Given the description of an element on the screen output the (x, y) to click on. 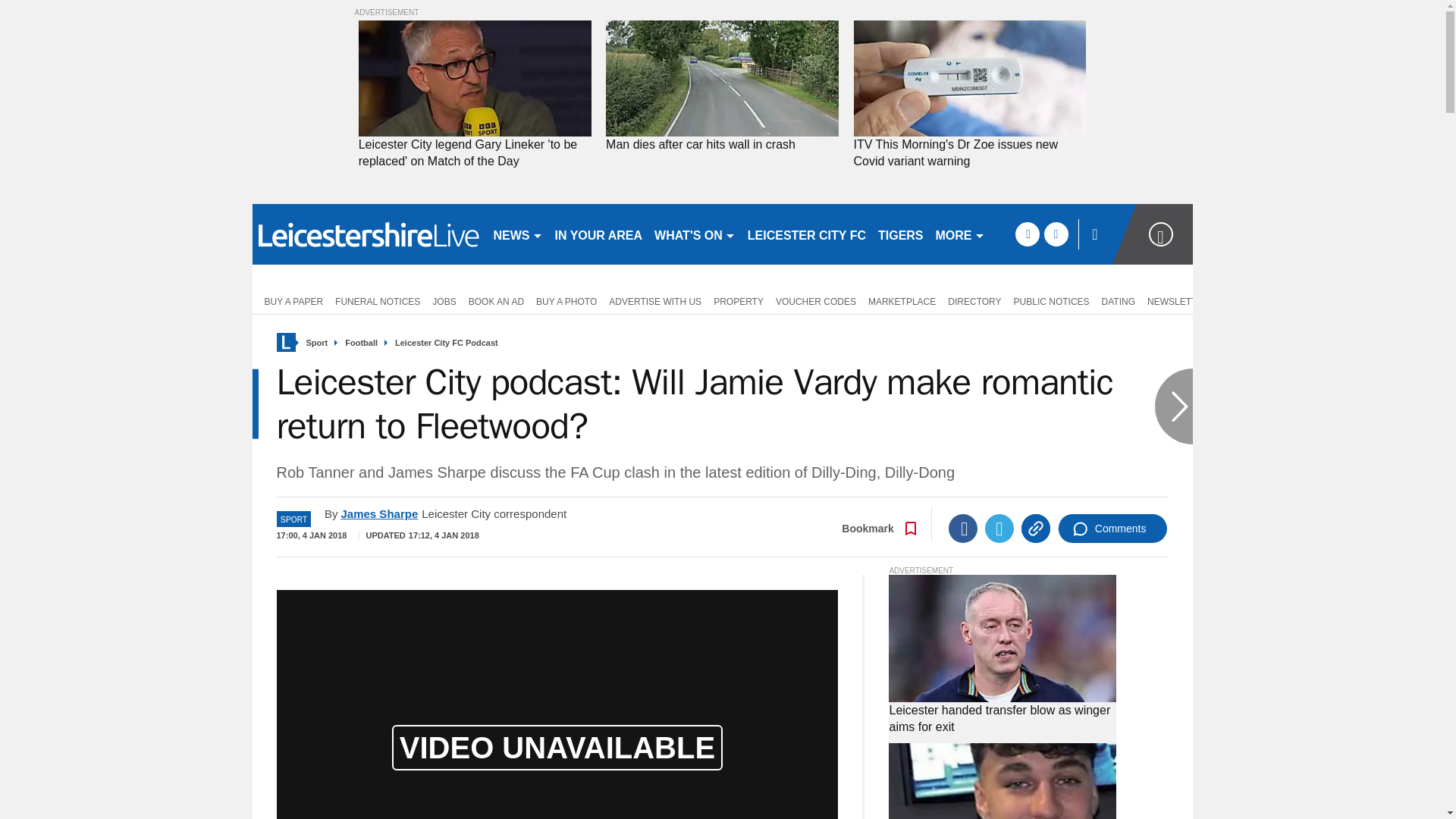
Man dies after car hits wall in crash (721, 78)
ITV This Morning's Dr Zoe issues new Covid variant warning (969, 152)
Man dies after car hits wall in crash (721, 144)
IN YOUR AREA (598, 233)
Comments (1112, 528)
twitter (1055, 233)
leicestermercury (365, 233)
Facebook (962, 528)
Man dies after car hits wall in crash (721, 144)
Twitter (999, 528)
ITV This Morning's Dr Zoe issues new Covid variant warning (969, 78)
MORE (960, 233)
NEWS (517, 233)
